Given the description of an element on the screen output the (x, y) to click on. 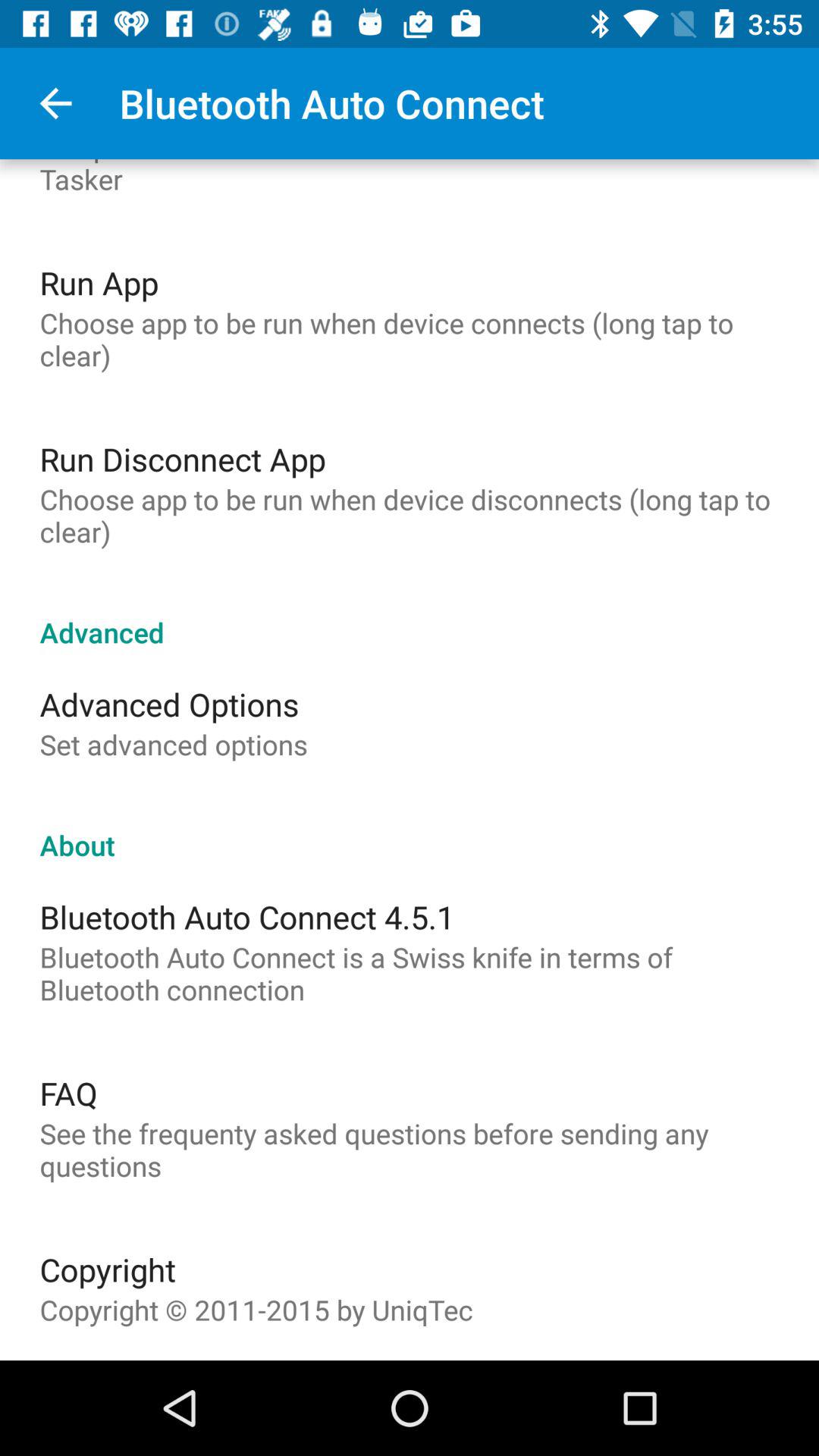
tap the icon to the left of the bluetooth auto connect icon (55, 103)
